Given the description of an element on the screen output the (x, y) to click on. 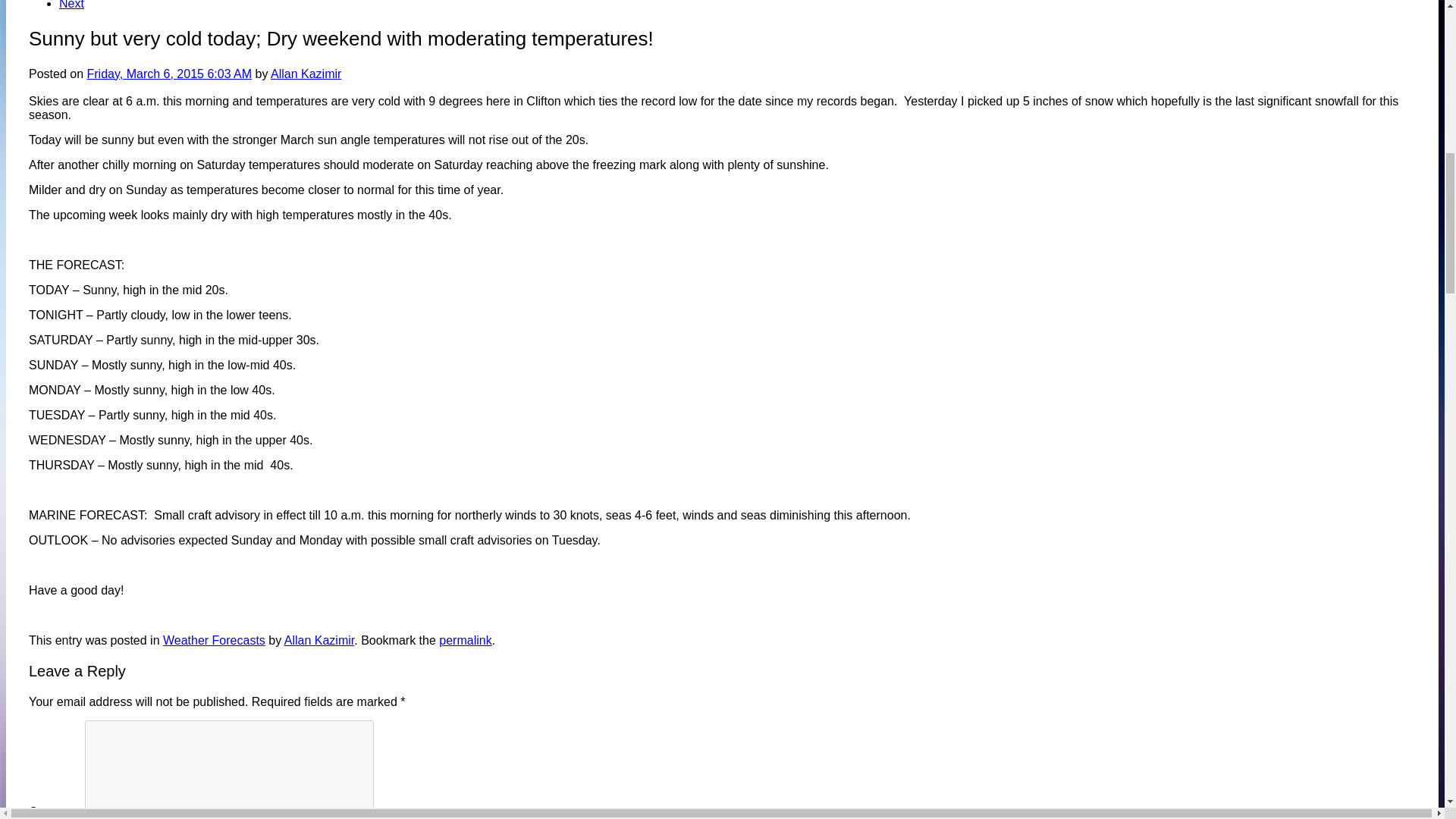
permalink (465, 640)
Next (71, 4)
Friday, March 6, 2015 6:03 AM (168, 73)
Allan Kazimir (305, 73)
View all posts by Allan Kazimir (305, 73)
6:03 am (168, 73)
Weather Forecasts (213, 640)
Allan Kazimir (318, 640)
